Given the description of an element on the screen output the (x, y) to click on. 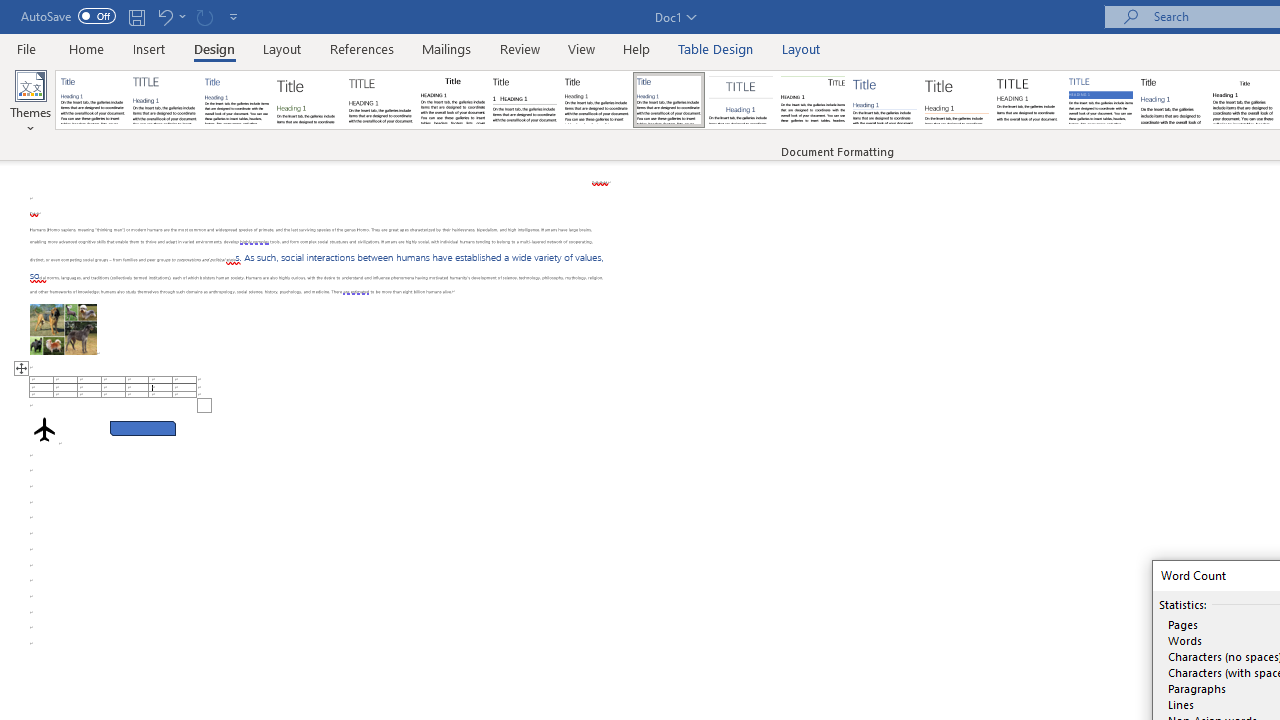
Word (1172, 100)
Centered (740, 100)
Black & White (Numbered) (524, 100)
Minimalist (1028, 100)
Shaded (1100, 100)
Themes (30, 102)
Rectangle: Diagonal Corners Snipped 2 (143, 428)
Undo Apply Quick Style Set (170, 15)
Basic (Stylish) (308, 100)
Black & White (Word 2013) (596, 100)
